Given the description of an element on the screen output the (x, y) to click on. 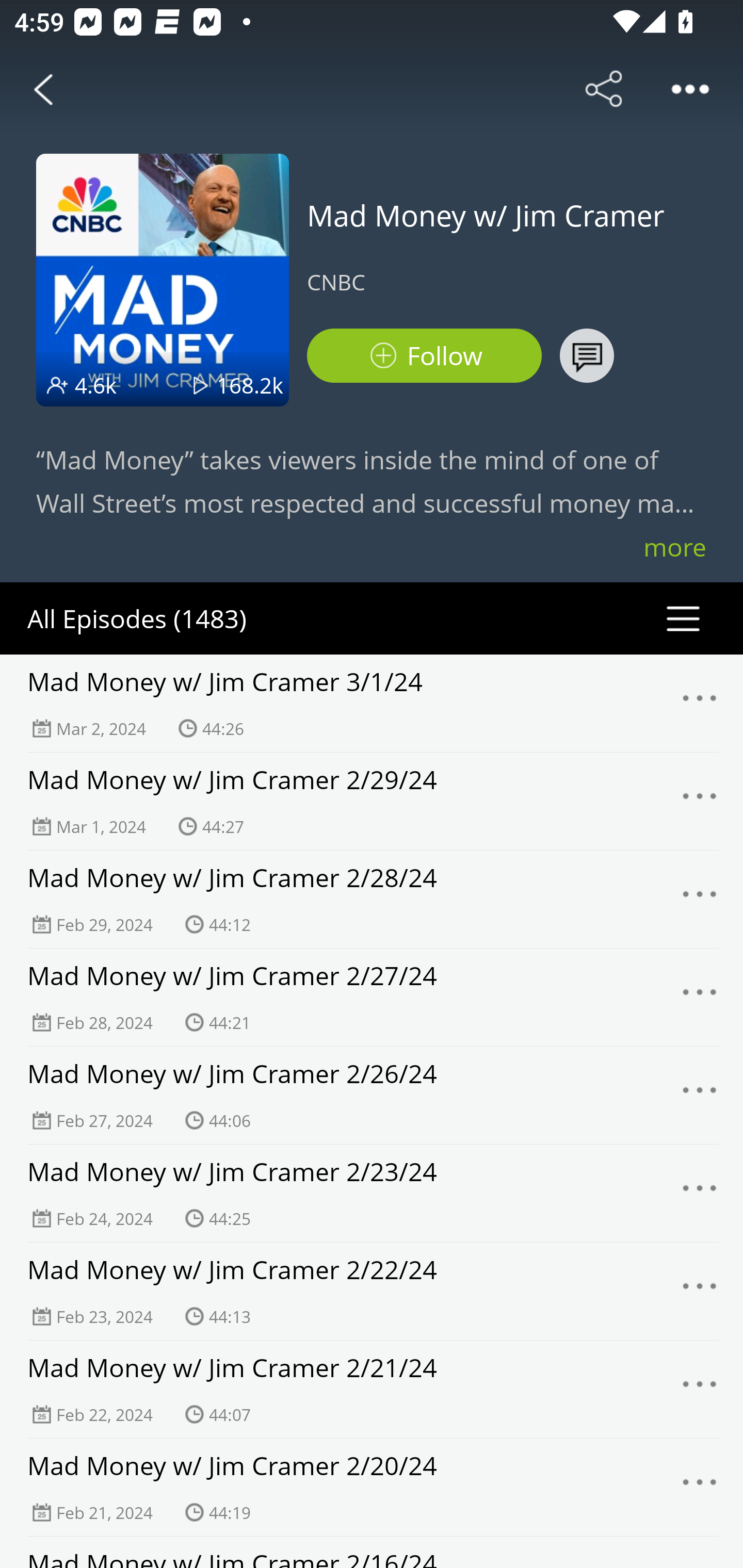
Back (43, 88)
Podbean Follow (423, 355)
4.6k (95, 384)
more (674, 546)
Menu (699, 703)
Menu (699, 801)
Menu (699, 899)
Menu (699, 997)
Menu (699, 1095)
Menu (699, 1193)
Menu (699, 1291)
Menu (699, 1389)
Menu (699, 1487)
